Given the description of an element on the screen output the (x, y) to click on. 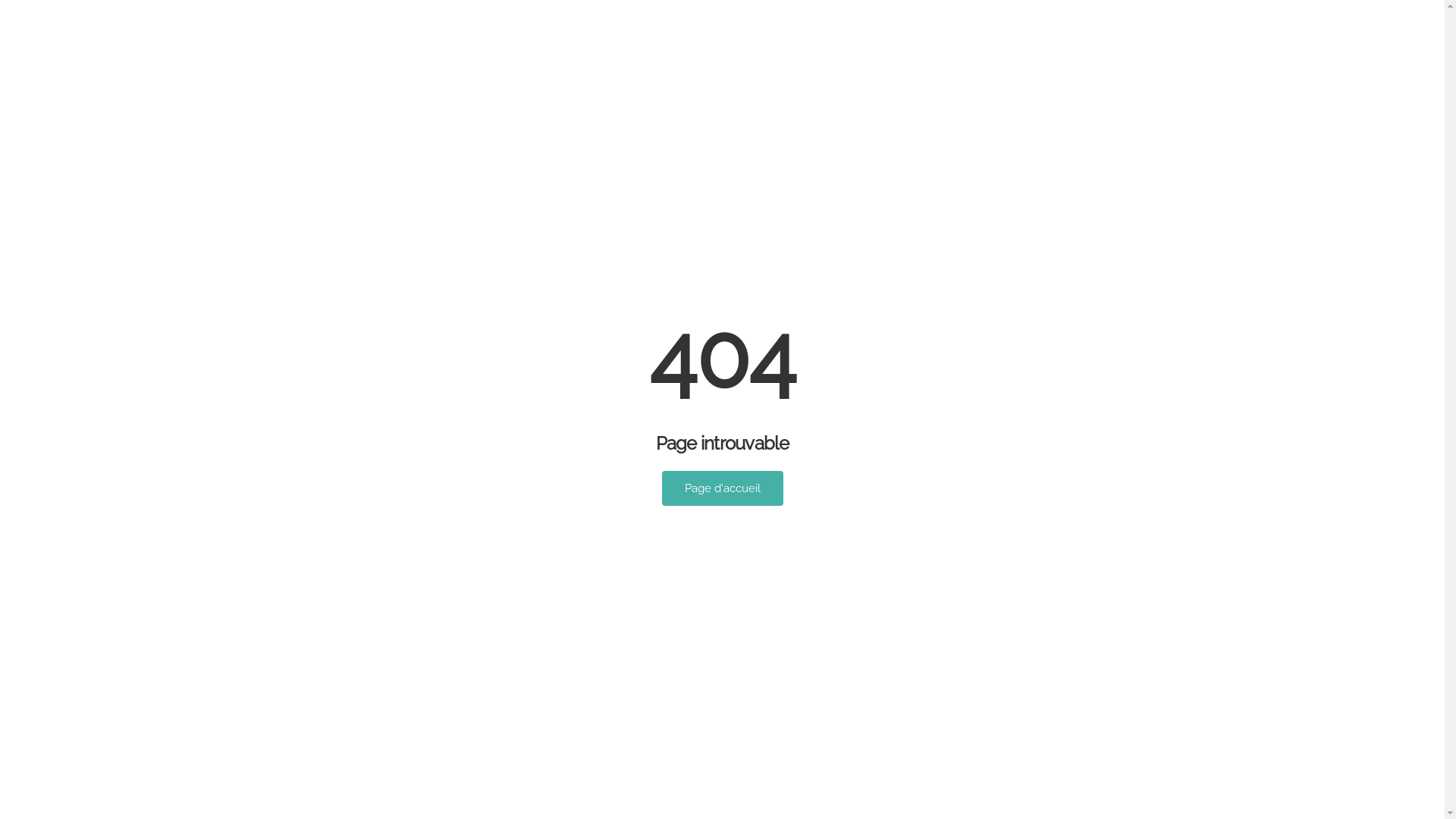
Page d'accueil Element type: text (721, 487)
